Given the description of an element on the screen output the (x, y) to click on. 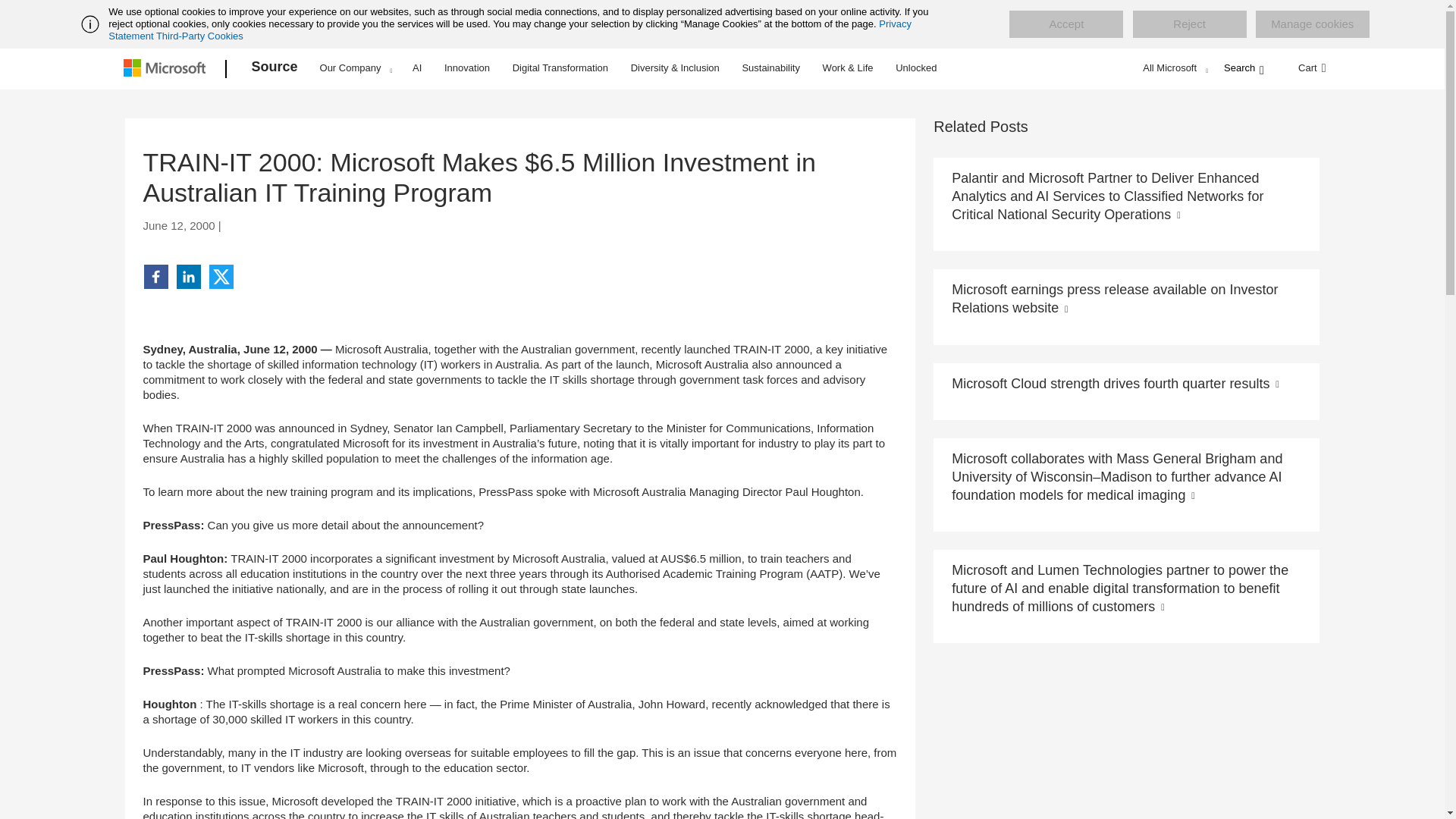
All Microsoft (1173, 67)
Microsoft (167, 69)
Manage cookies (1312, 23)
Privacy Statement (509, 29)
Reject (1189, 23)
Third-Party Cookies (199, 35)
Accept (1065, 23)
Unlocked (915, 67)
Our Company (355, 67)
Innovation (467, 67)
